Given the description of an element on the screen output the (x, y) to click on. 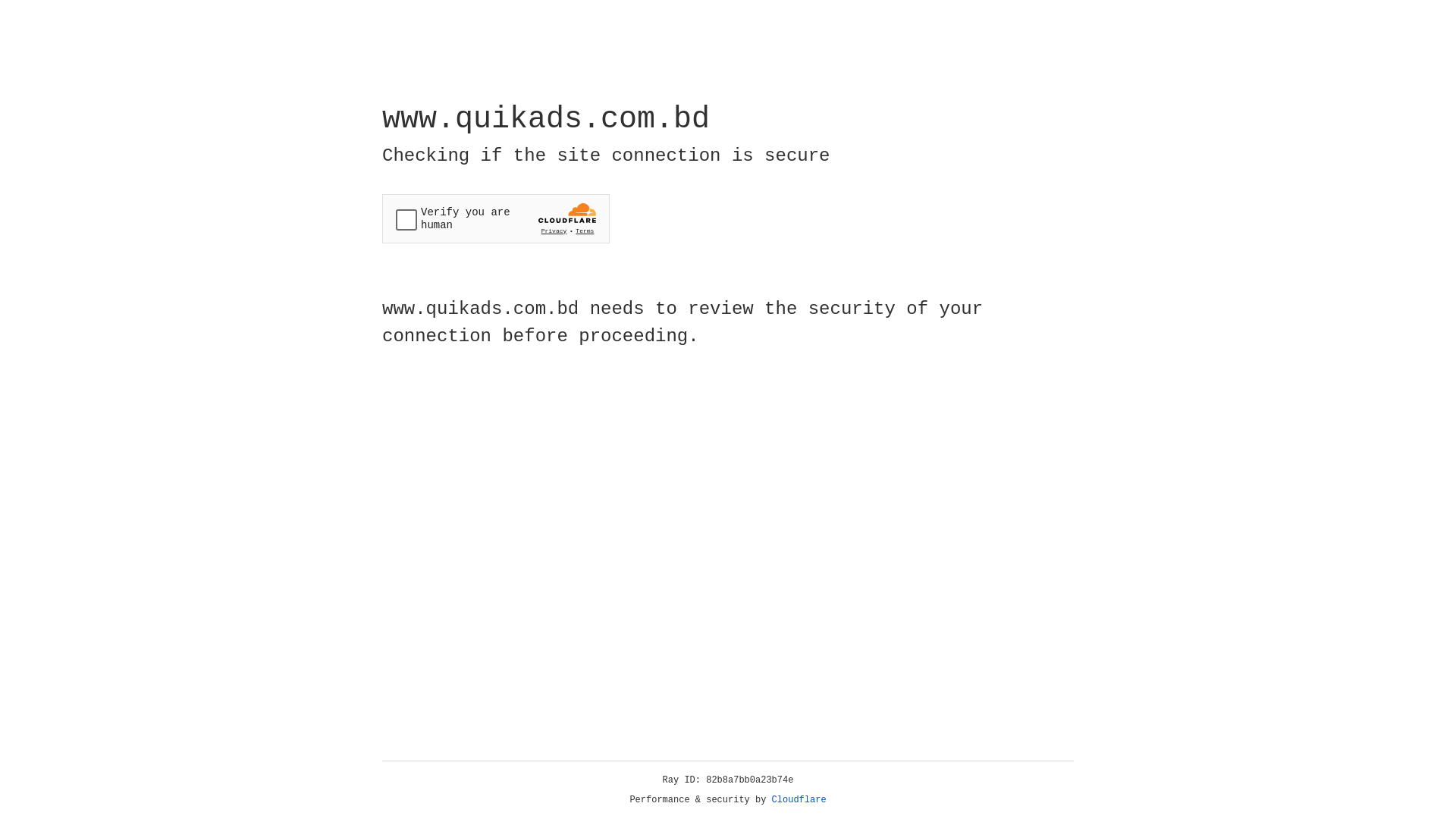
Widget containing a Cloudflare security challenge Element type: hover (495, 218)
Cloudflare Element type: text (798, 799)
